Given the description of an element on the screen output the (x, y) to click on. 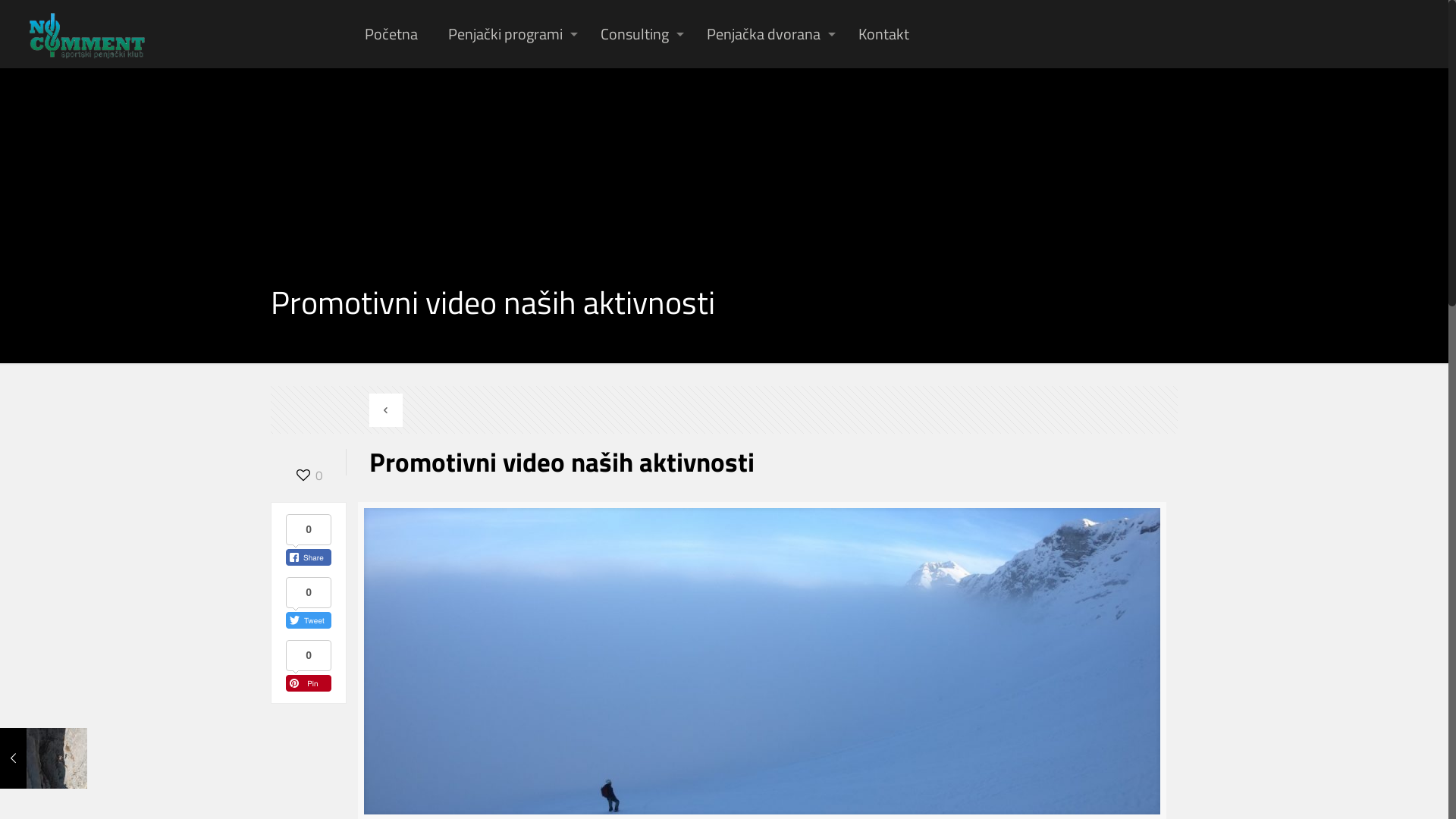
0 Element type: text (308, 475)
Kontakt Element type: text (883, 34)
NO COMMENT Element type: hover (86, 34)
Consulting Element type: text (638, 34)
